Given the description of an element on the screen output the (x, y) to click on. 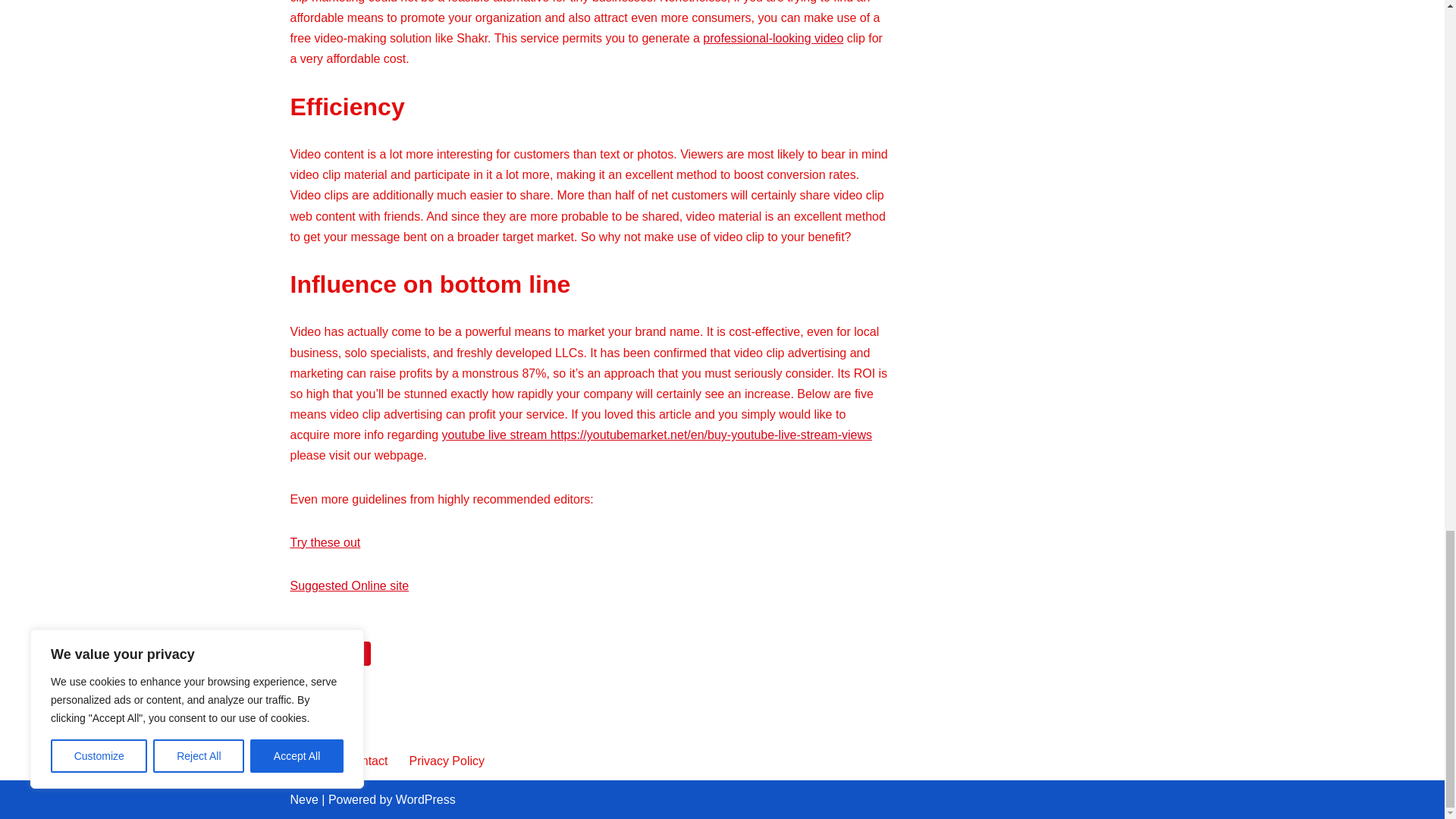
guide (348, 653)
Try these out (324, 542)
Suggested Online site (349, 585)
professional-looking video (773, 38)
GUIDE (348, 653)
